Given the description of an element on the screen output the (x, y) to click on. 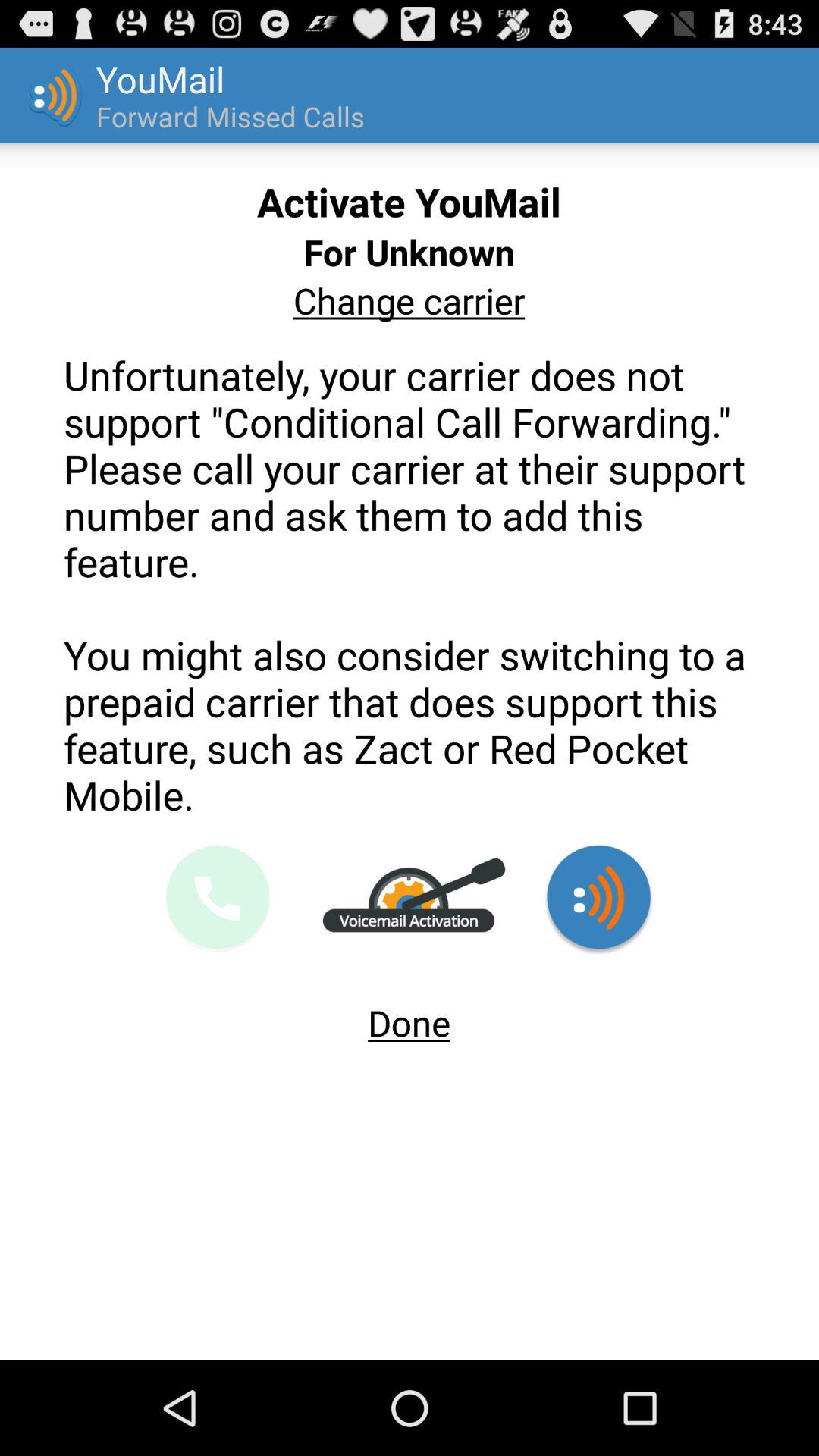
press item below the for unknown icon (409, 300)
